Given the description of an element on the screen output the (x, y) to click on. 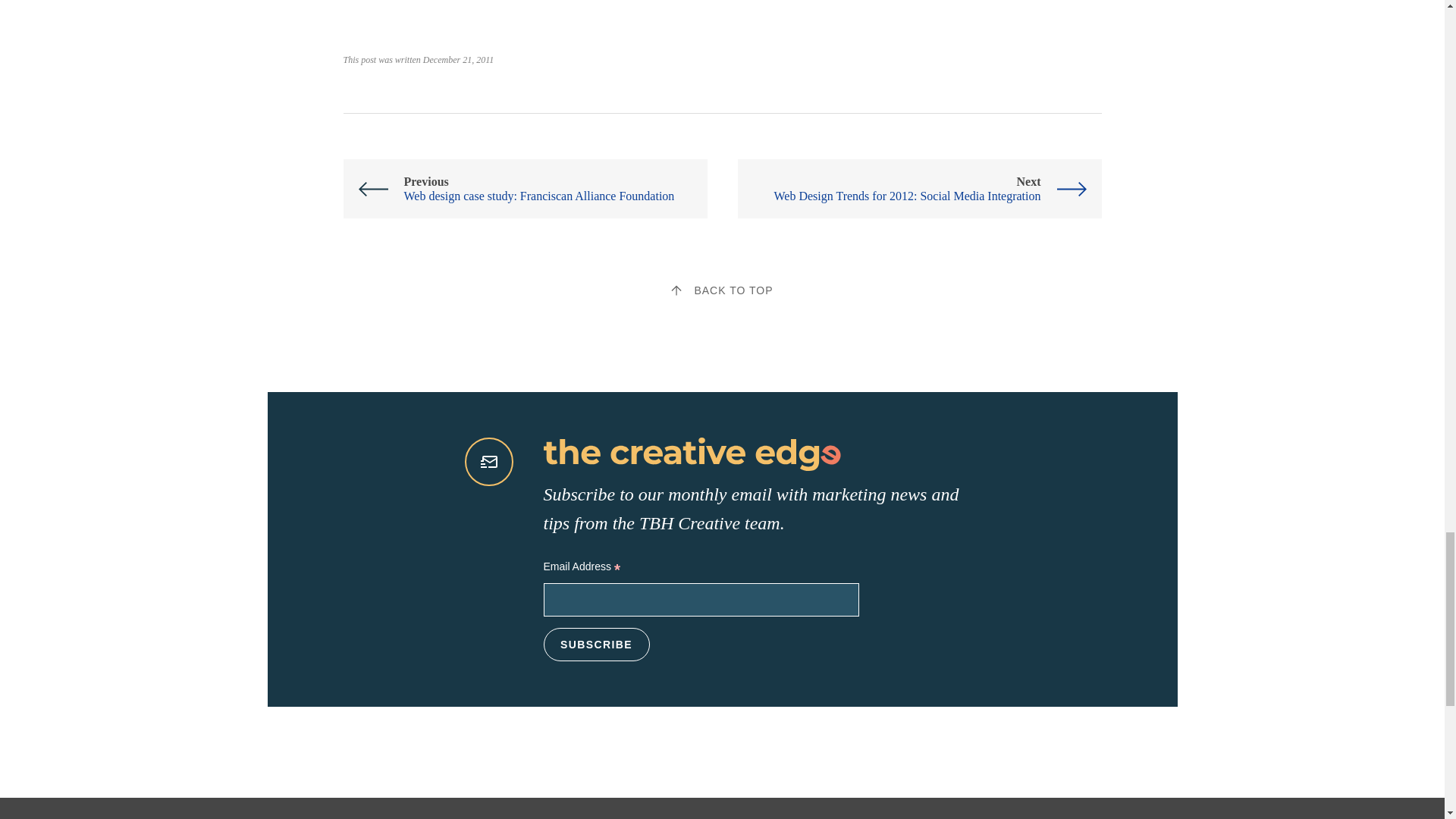
BACK TO TOP (722, 290)
Subscribe (596, 644)
